Given the description of an element on the screen output the (x, y) to click on. 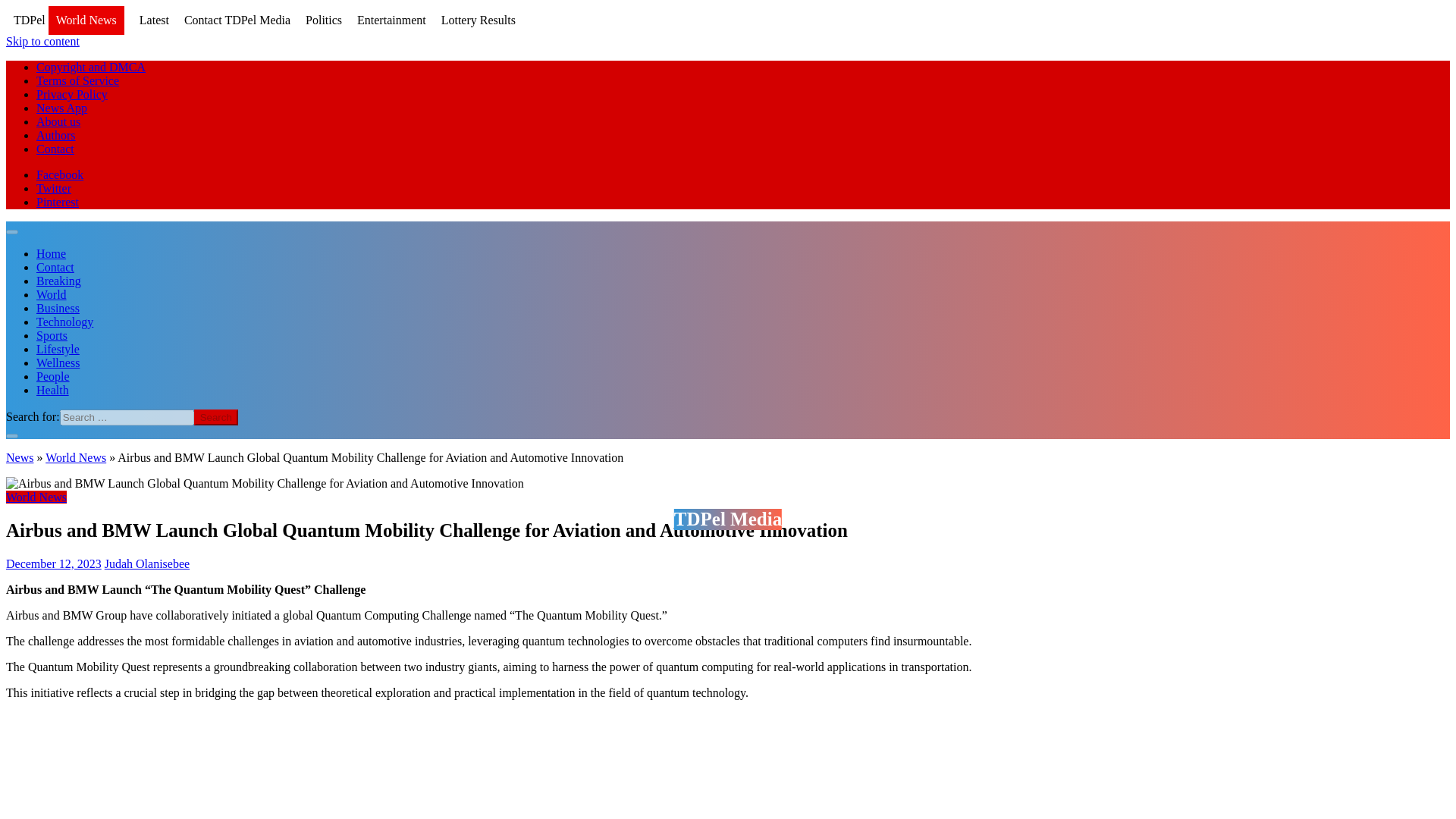
Authors (55, 134)
Business (58, 308)
Privacy Policy (71, 93)
Latest (153, 19)
People (52, 376)
Entertainment (391, 19)
Health (52, 390)
Wellness (58, 362)
Skip to content (42, 41)
World News (35, 496)
Copyright and DMCA (90, 66)
Facebook (59, 174)
Contact (55, 148)
December 12, 2023 (53, 562)
Lottery Results (478, 19)
